Given the description of an element on the screen output the (x, y) to click on. 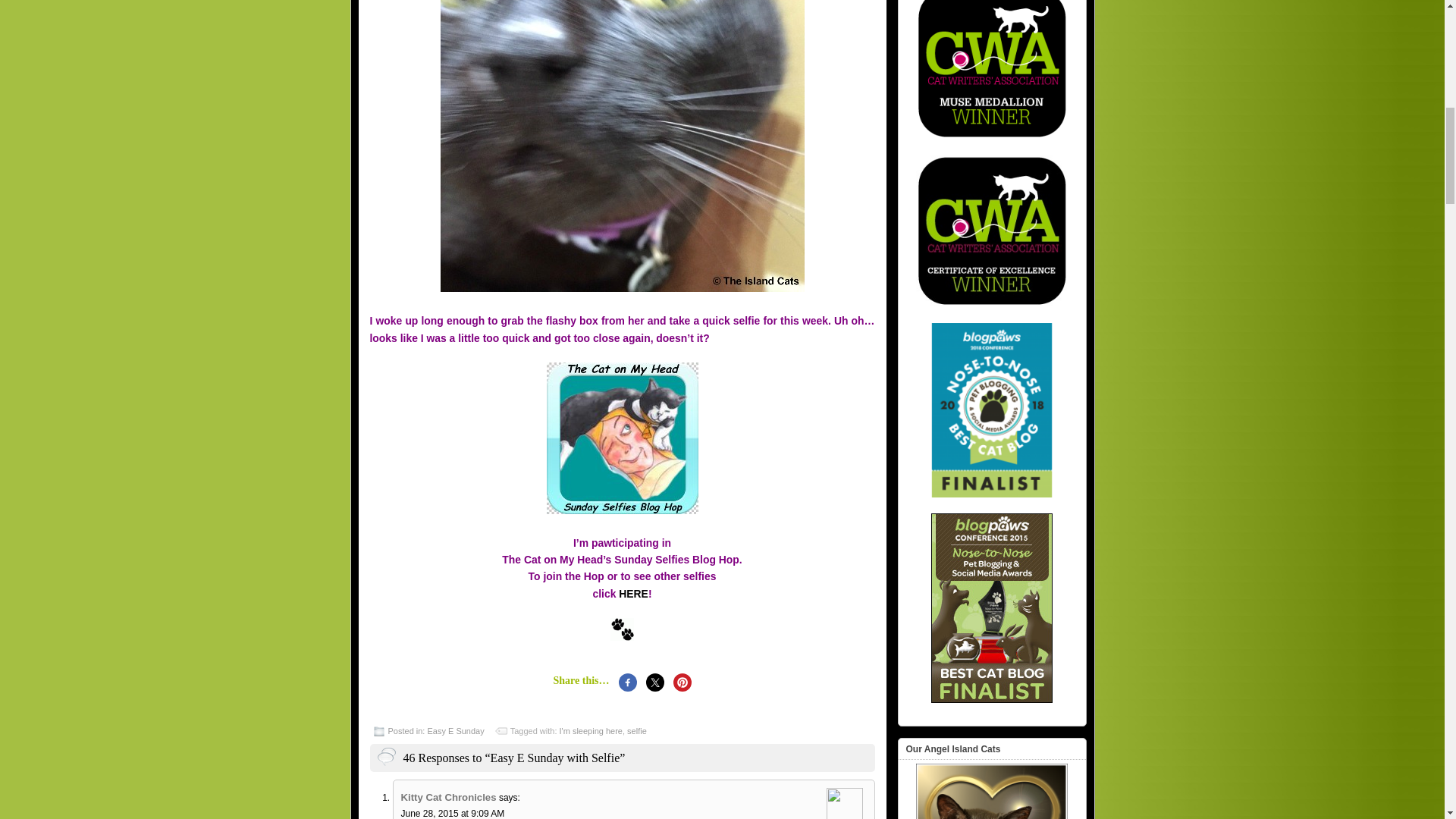
selfie (636, 730)
Easy E Sunday (454, 730)
ernie-selfie-6.28.15 (621, 145)
June 28, 2015 at 9:09 AM (451, 813)
HERE (632, 593)
I'm sleeping here (591, 730)
Kitty Cat Chronicles (448, 797)
